Given the description of an element on the screen output the (x, y) to click on. 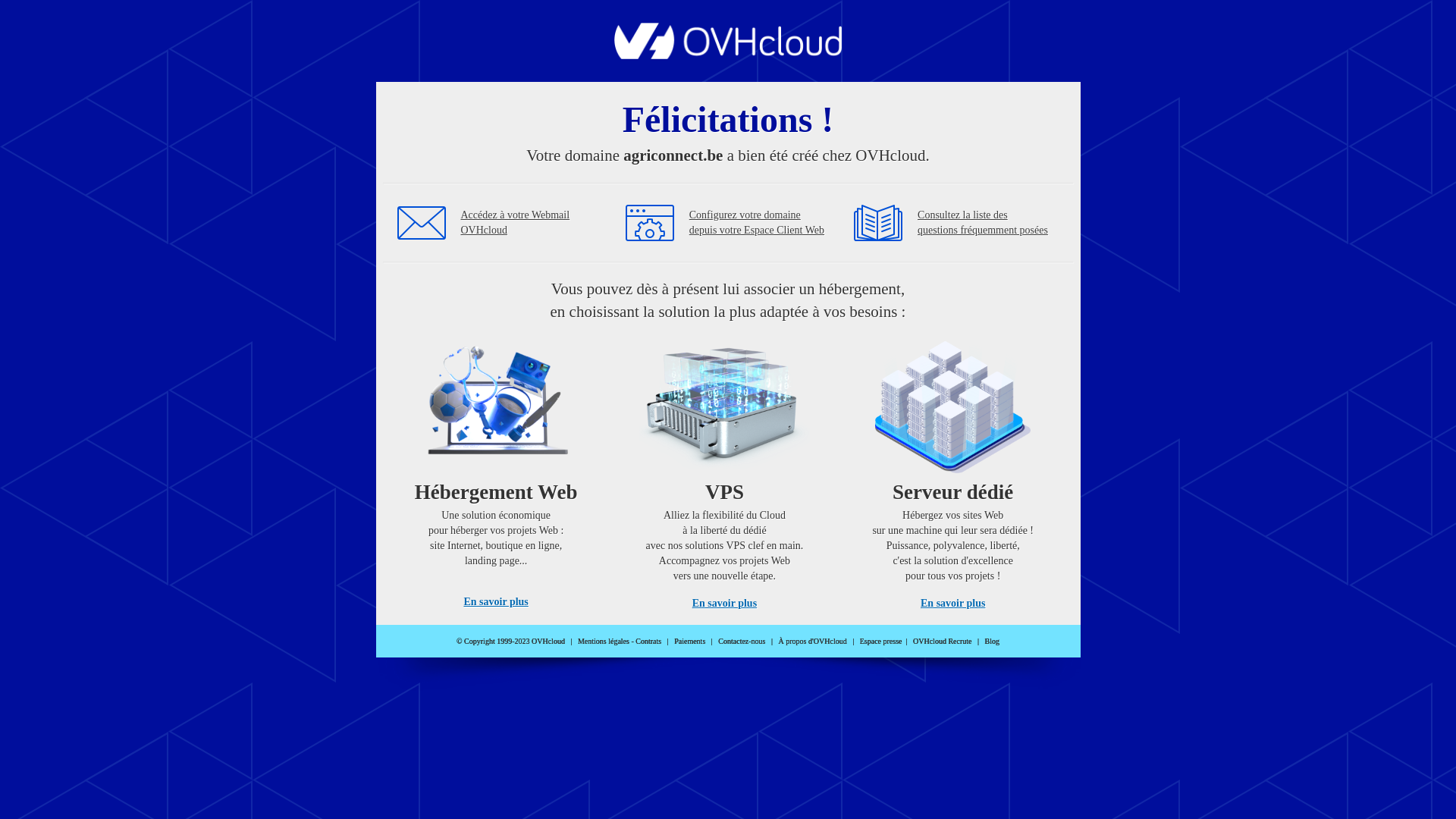
VPS Element type: hover (724, 469)
En savoir plus Element type: text (495, 601)
Configurez votre domaine
depuis votre Espace Client Web Element type: text (756, 222)
En savoir plus Element type: text (724, 602)
Paiements Element type: text (689, 641)
Blog Element type: text (992, 641)
Contactez-nous Element type: text (741, 641)
Espace presse Element type: text (880, 641)
OVHcloud Element type: hover (727, 54)
OVHcloud Recrute Element type: text (942, 641)
En savoir plus Element type: text (952, 602)
